Given the description of an element on the screen output the (x, y) to click on. 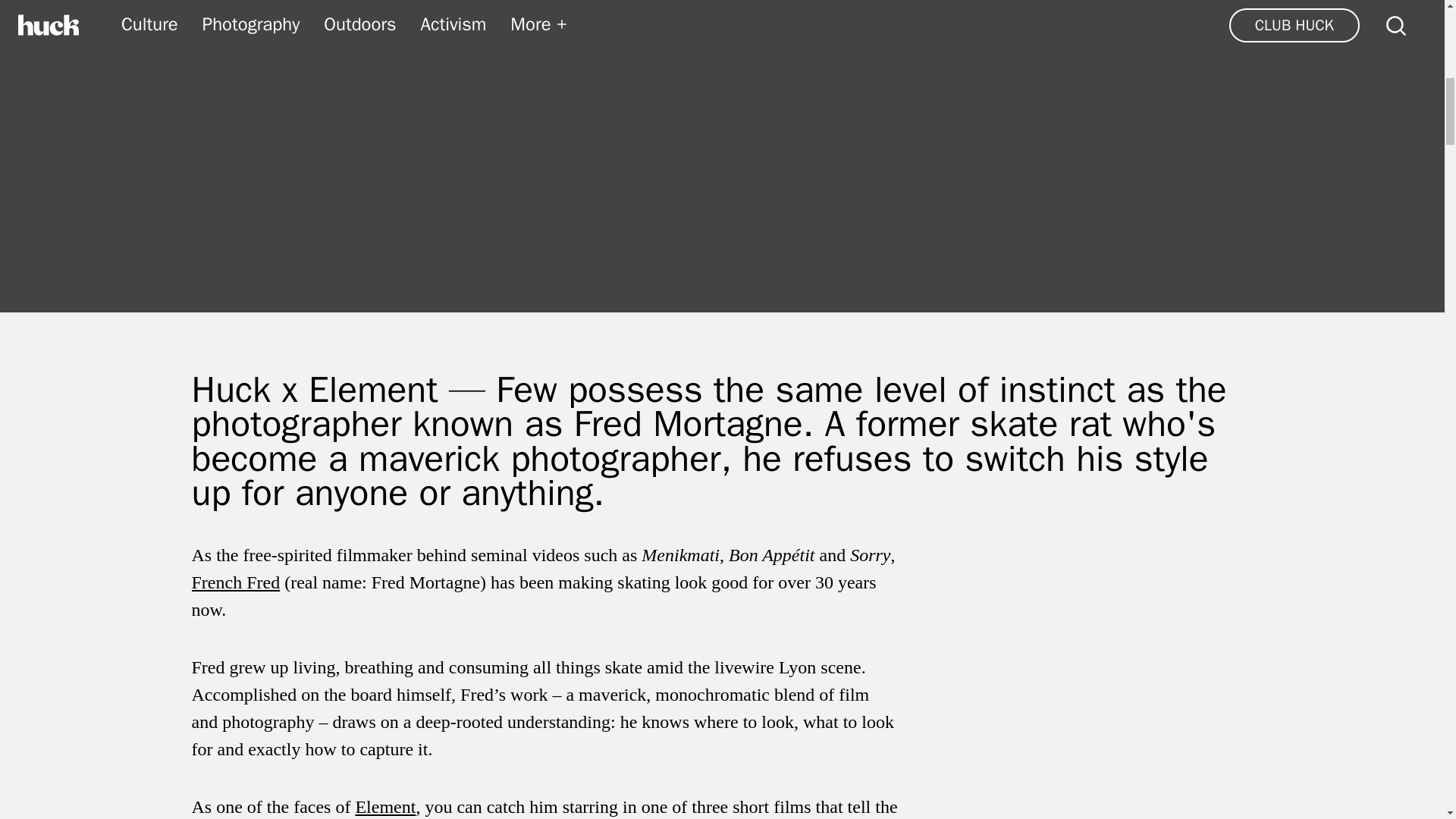
French Fred (234, 582)
Element (384, 806)
